Given the description of an element on the screen output the (x, y) to click on. 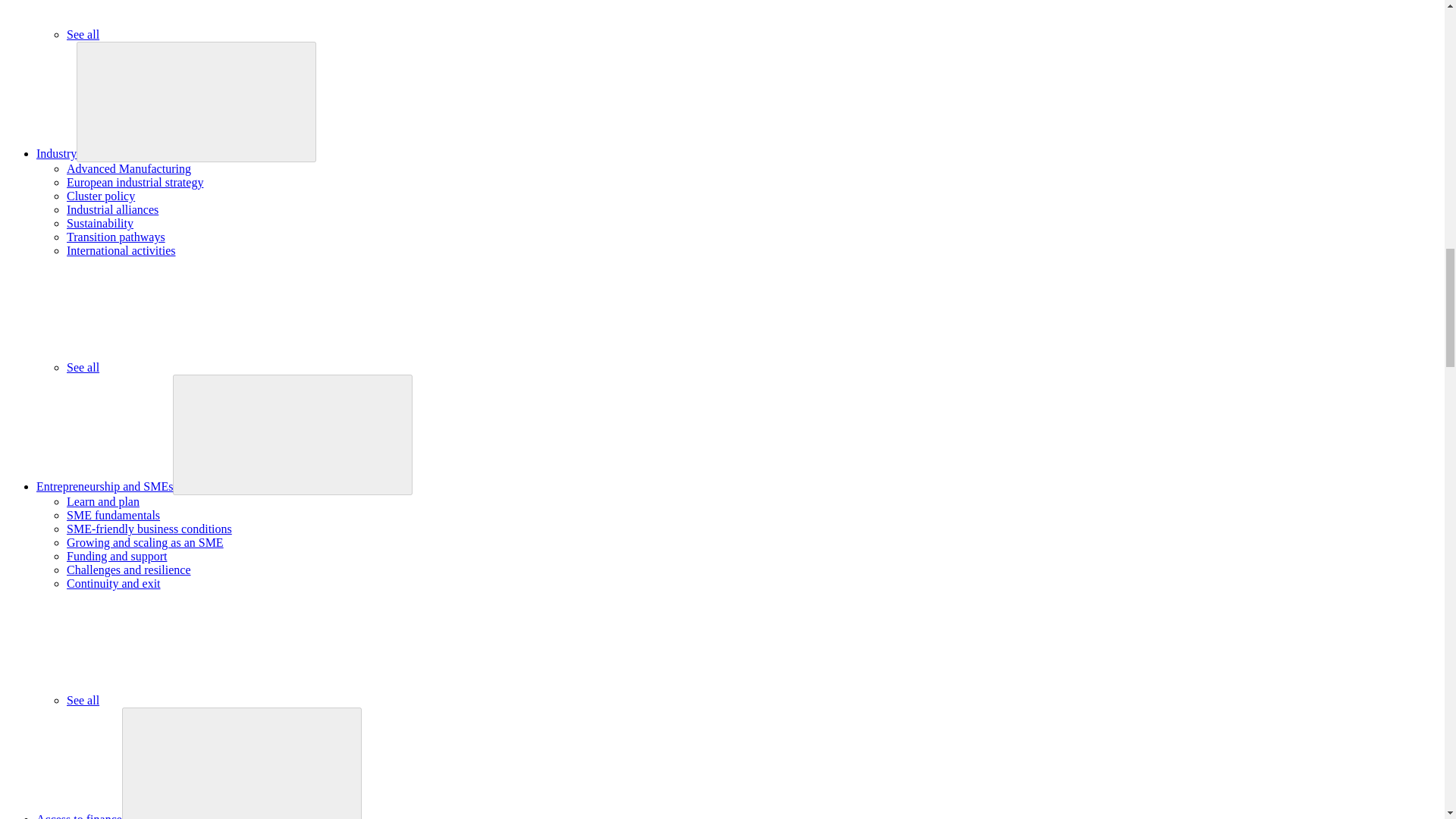
Sustainability (99, 223)
Cluster policy (100, 195)
Advanced Manufacturing (128, 168)
European industrial strategy (134, 182)
Industry (56, 153)
See all (196, 33)
Industrial alliances (112, 209)
